Given the description of an element on the screen output the (x, y) to click on. 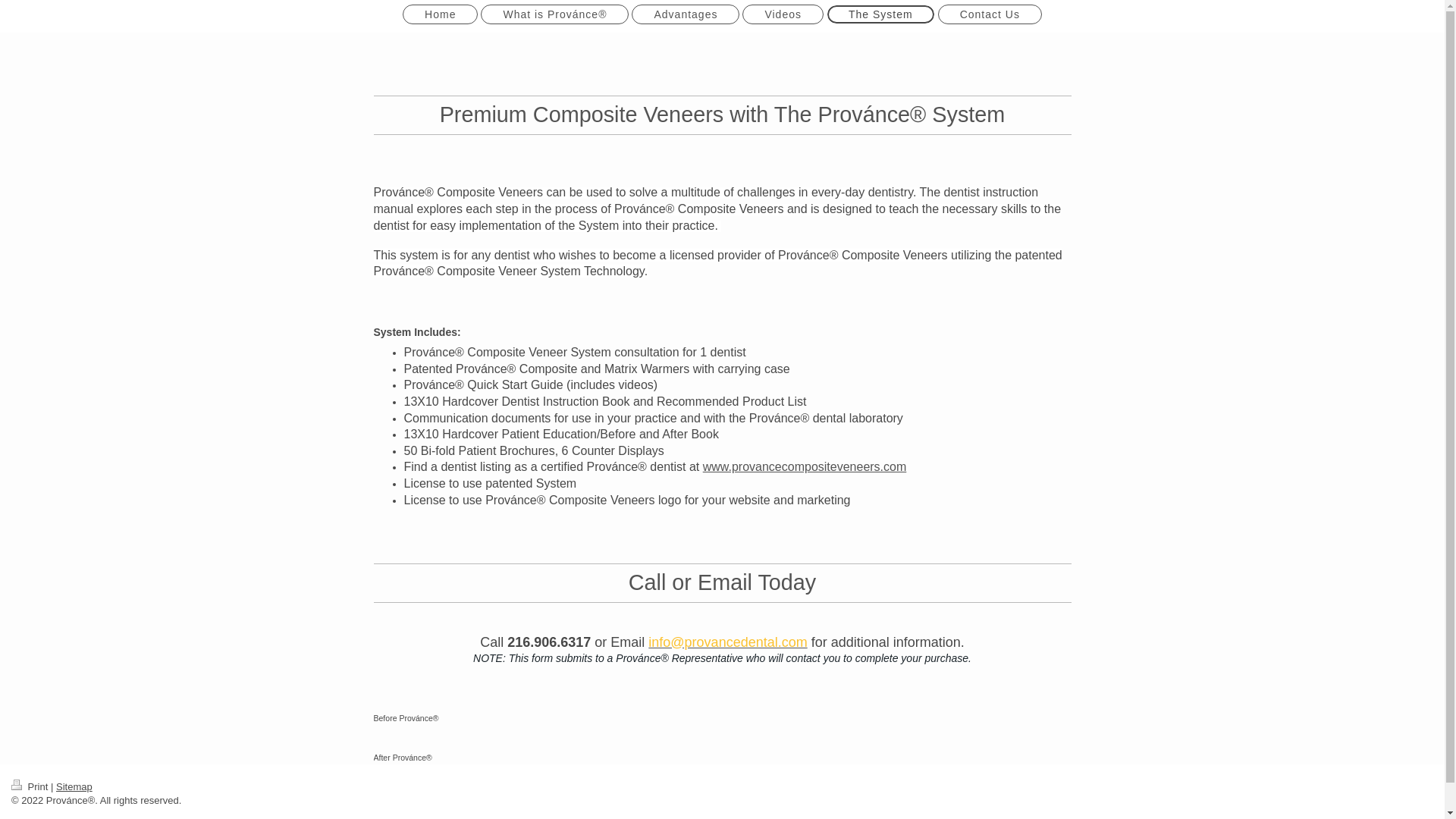
Print (30, 786)
Advantages (685, 14)
Sitemap (74, 786)
Videos (783, 14)
www.provancecompositeveneers.com (805, 466)
The System (880, 14)
Contact Us (989, 14)
Home (440, 14)
